Given the description of an element on the screen output the (x, y) to click on. 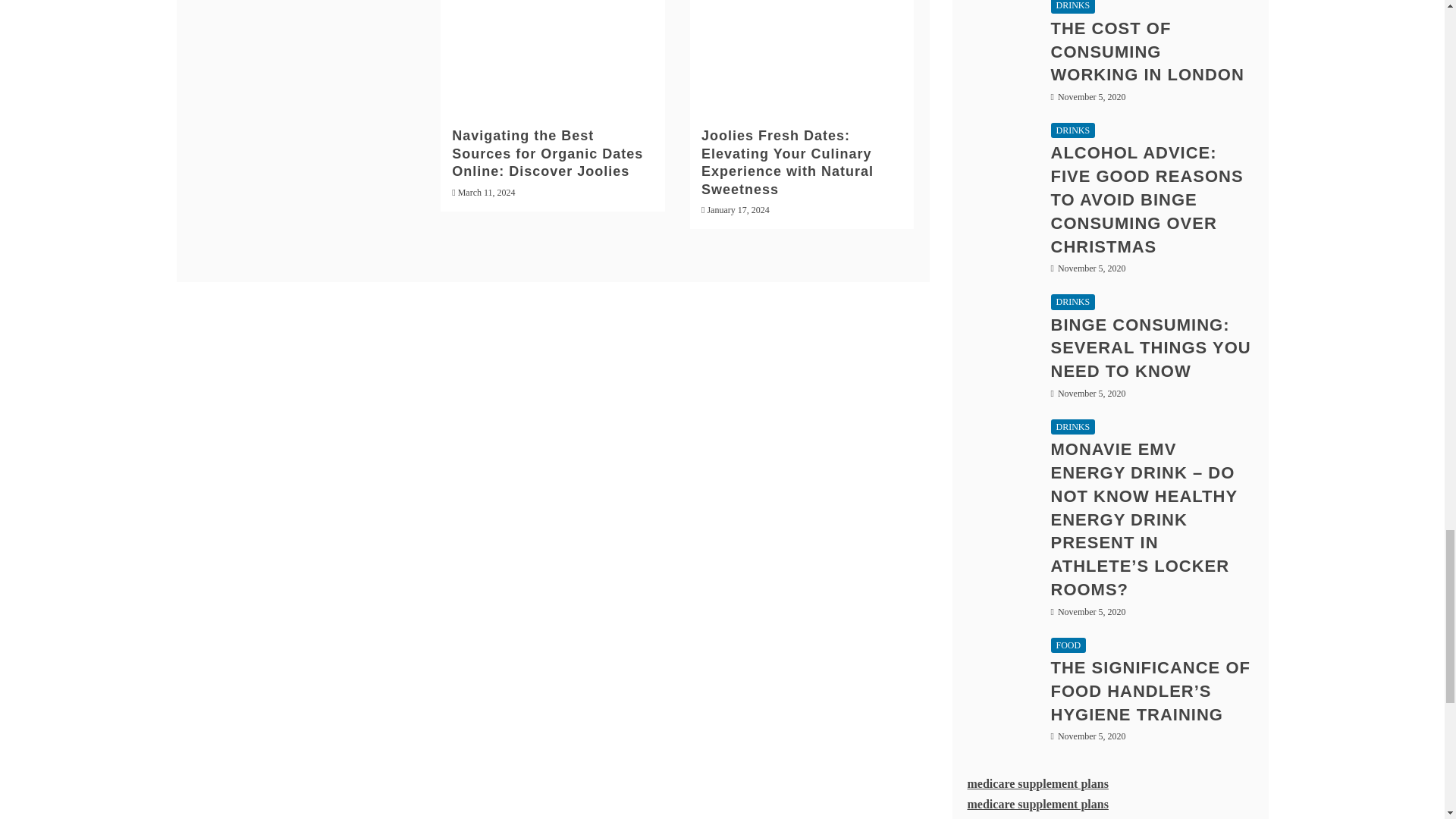
March 11, 2024 (486, 192)
January 17, 2024 (737, 209)
